Given the description of an element on the screen output the (x, y) to click on. 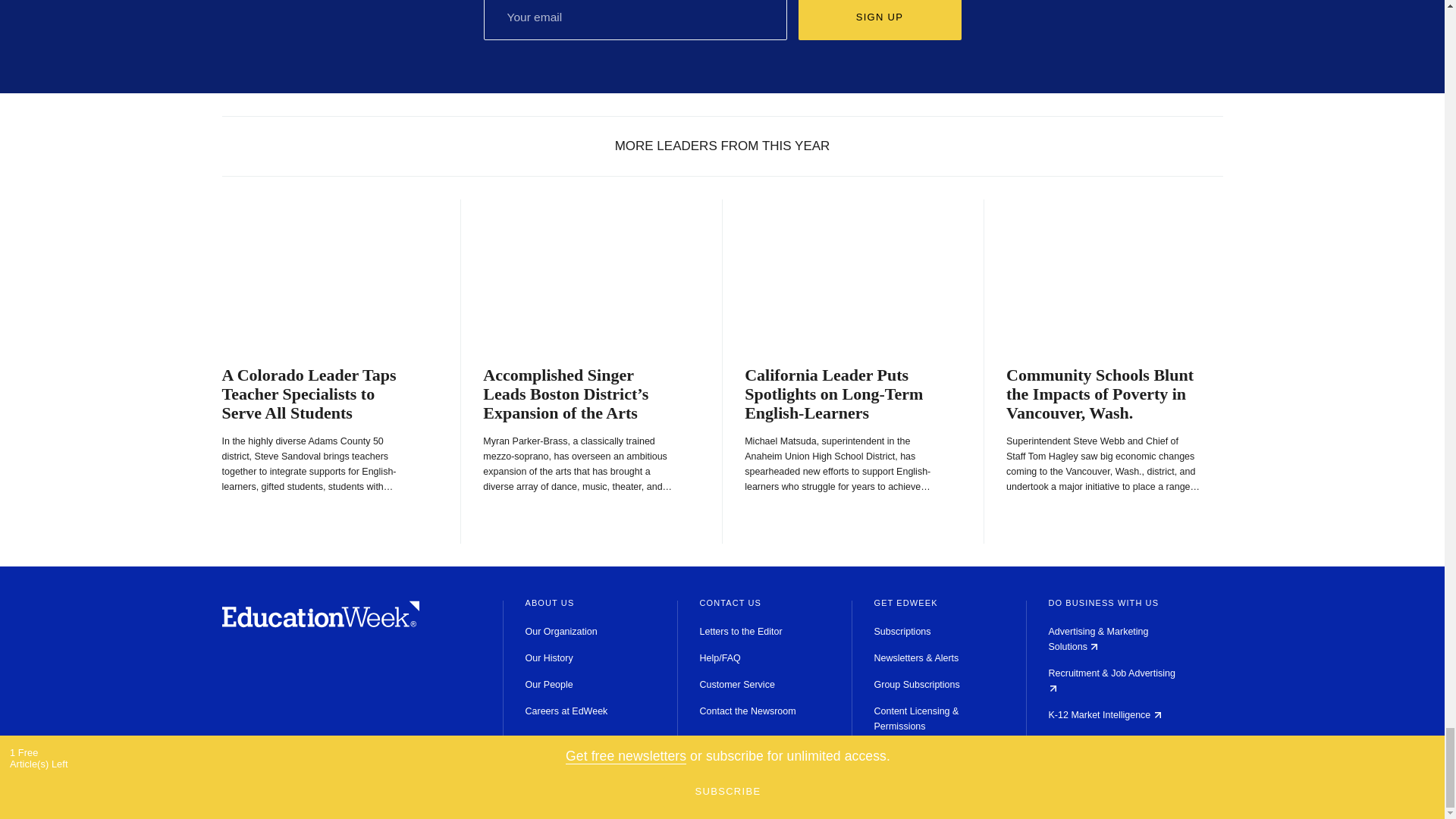
Homepage (320, 623)
